Given the description of an element on the screen output the (x, y) to click on. 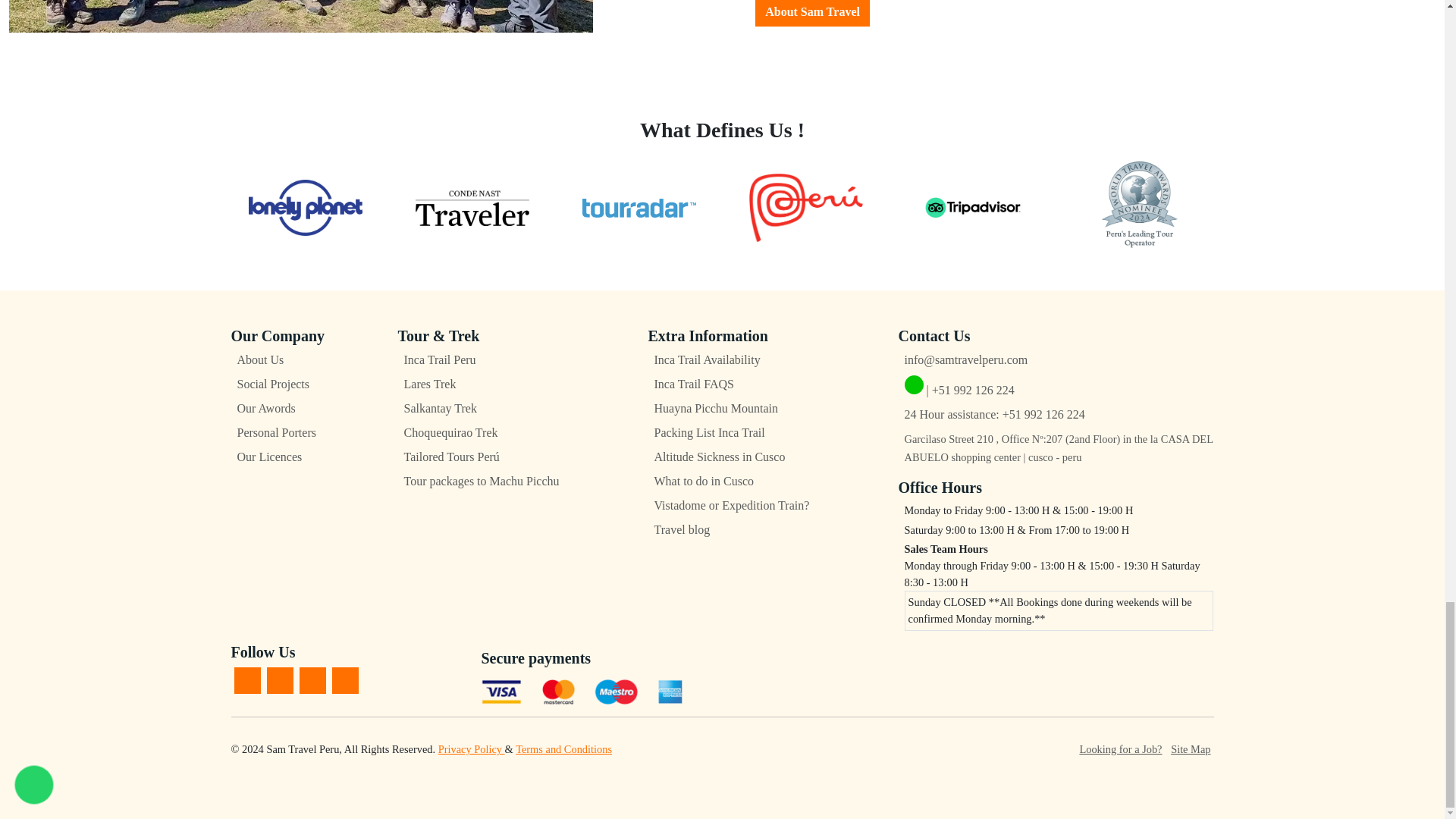
Facebook (246, 680)
